Given the description of an element on the screen output the (x, y) to click on. 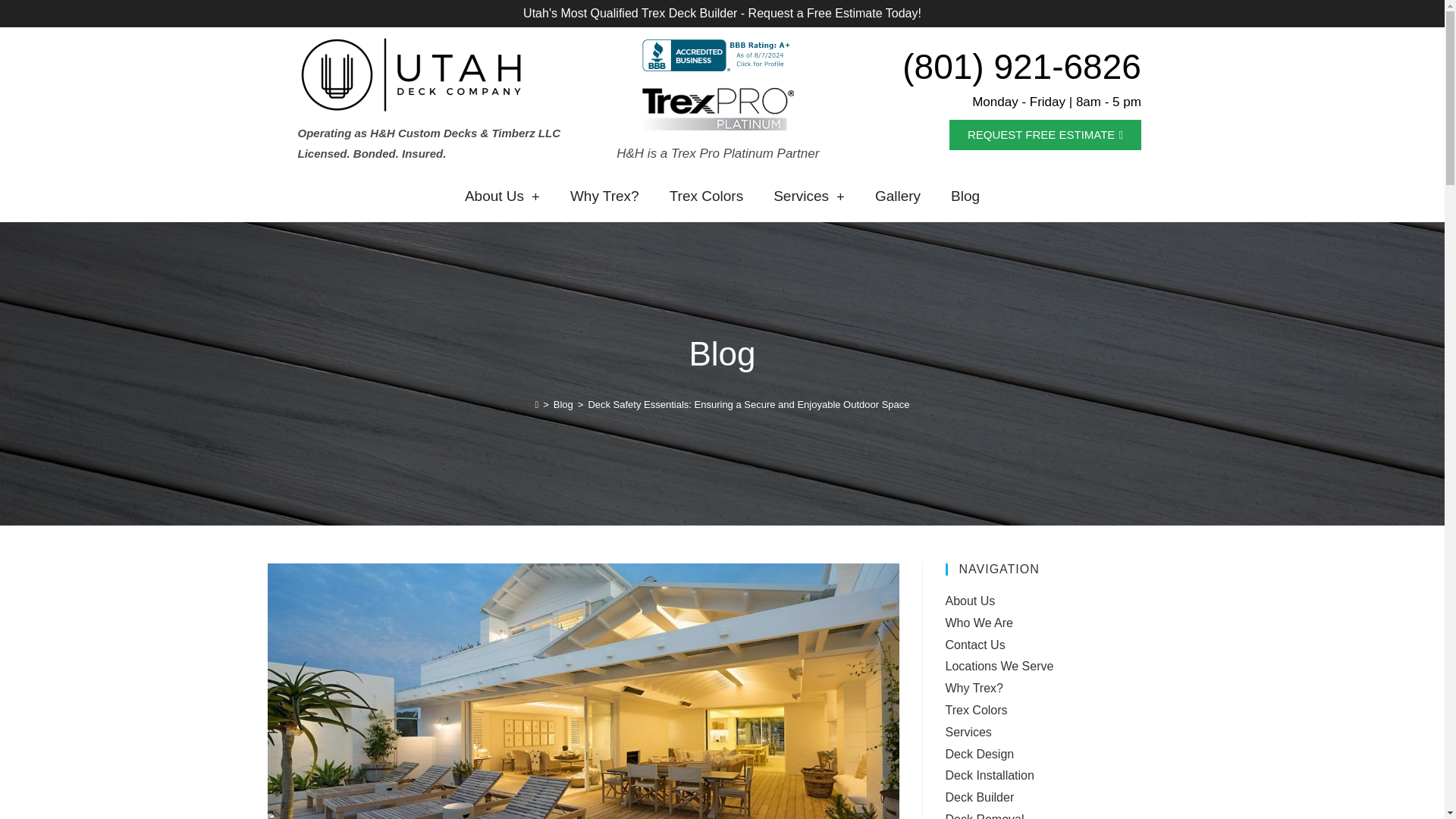
Services (809, 196)
About Us (501, 196)
Trex Colors (705, 196)
Gallery (898, 196)
Blog (563, 404)
Why Trex? (603, 196)
REQUEST FREE ESTIMATE (1045, 134)
Blog (965, 196)
